Given the description of an element on the screen output the (x, y) to click on. 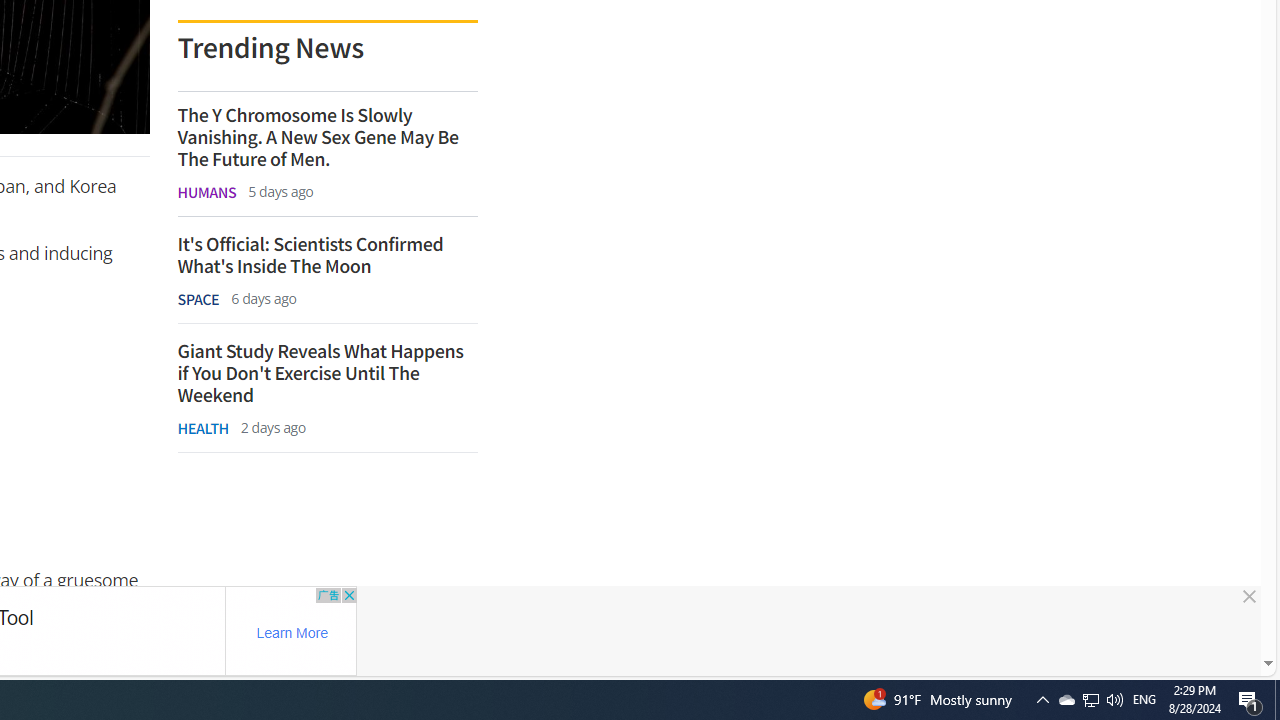
HUMANS (206, 191)
HEALTH (202, 427)
SPACE (198, 299)
It's Official: Scientists Confirmed What's Inside The Moon (326, 255)
